Given the description of an element on the screen output the (x, y) to click on. 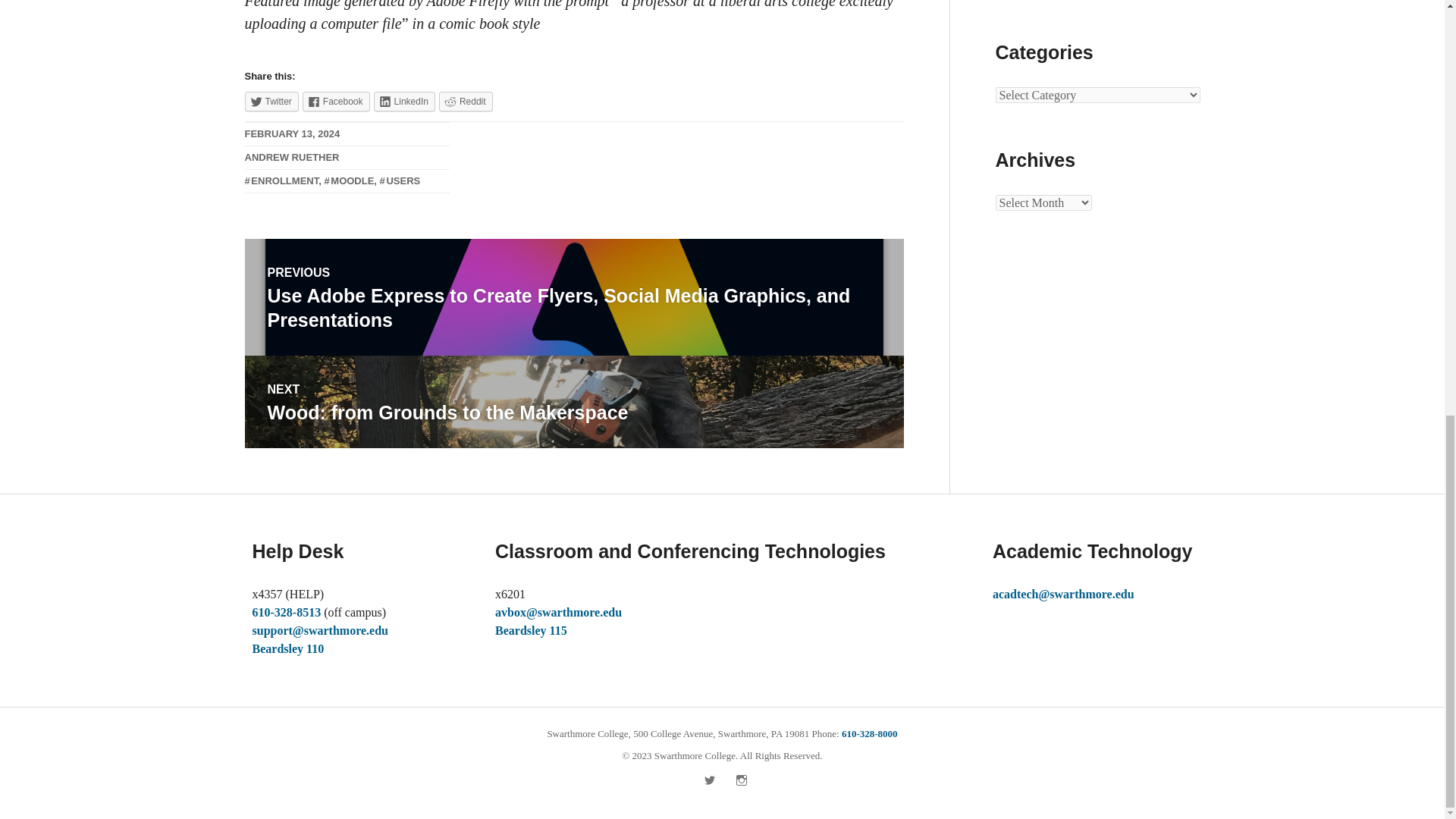
Find Beardsley on the Campus Map (287, 648)
ENROLLMENT (281, 180)
Facebook (335, 101)
Beardsley 115 (573, 401)
LinkedIn (285, 612)
Click to share on Reddit (531, 630)
Twitter (404, 101)
